Given the description of an element on the screen output the (x, y) to click on. 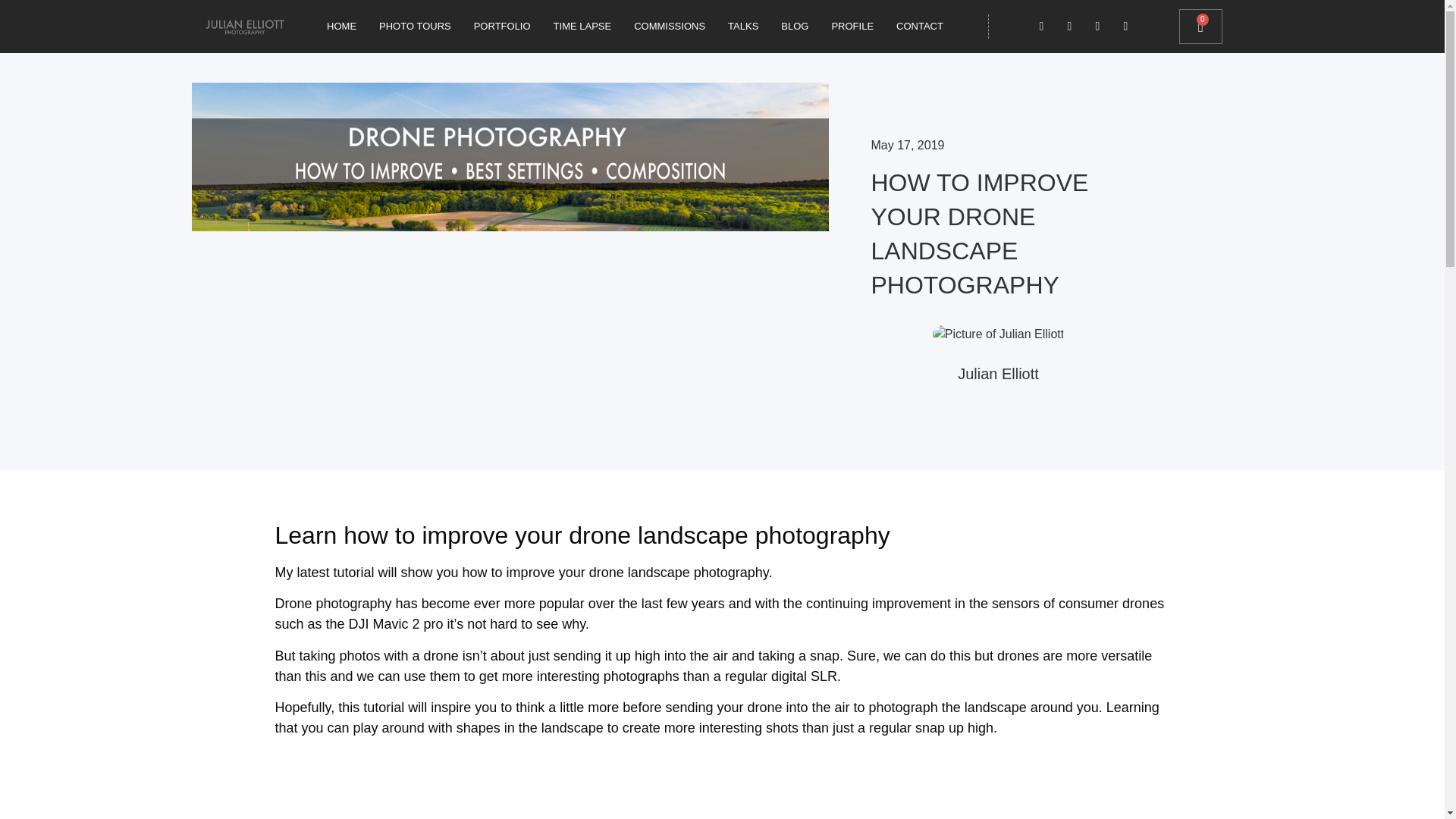
HOME (341, 26)
PORTFOLIO (502, 26)
PHOTO TOURS (415, 26)
